Given the description of an element on the screen output the (x, y) to click on. 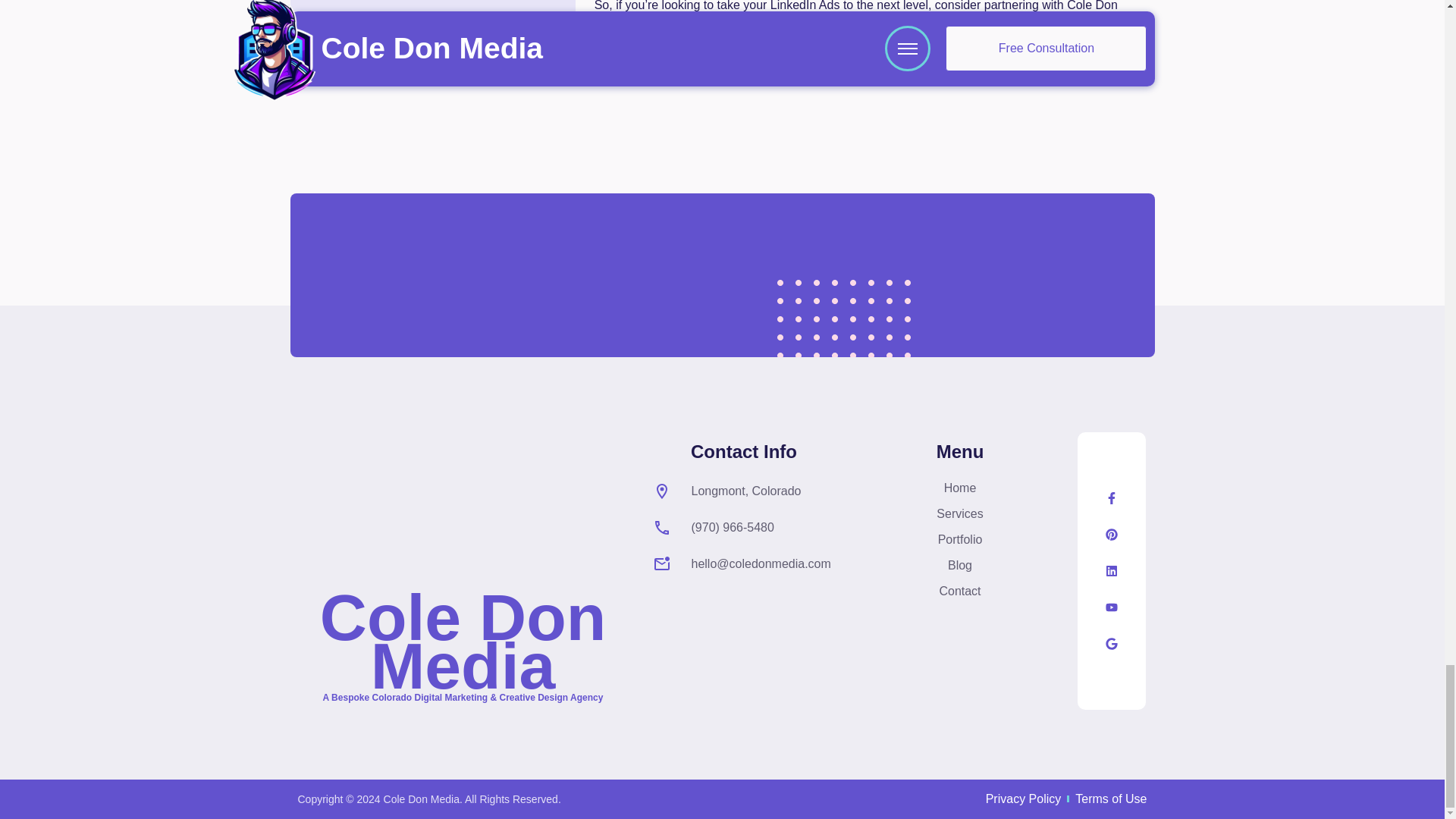
Portfolio (960, 539)
Blog (960, 565)
Services (960, 514)
Contact (960, 591)
Home (960, 488)
Cole Don Media (462, 640)
